Given the description of an element on the screen output the (x, y) to click on. 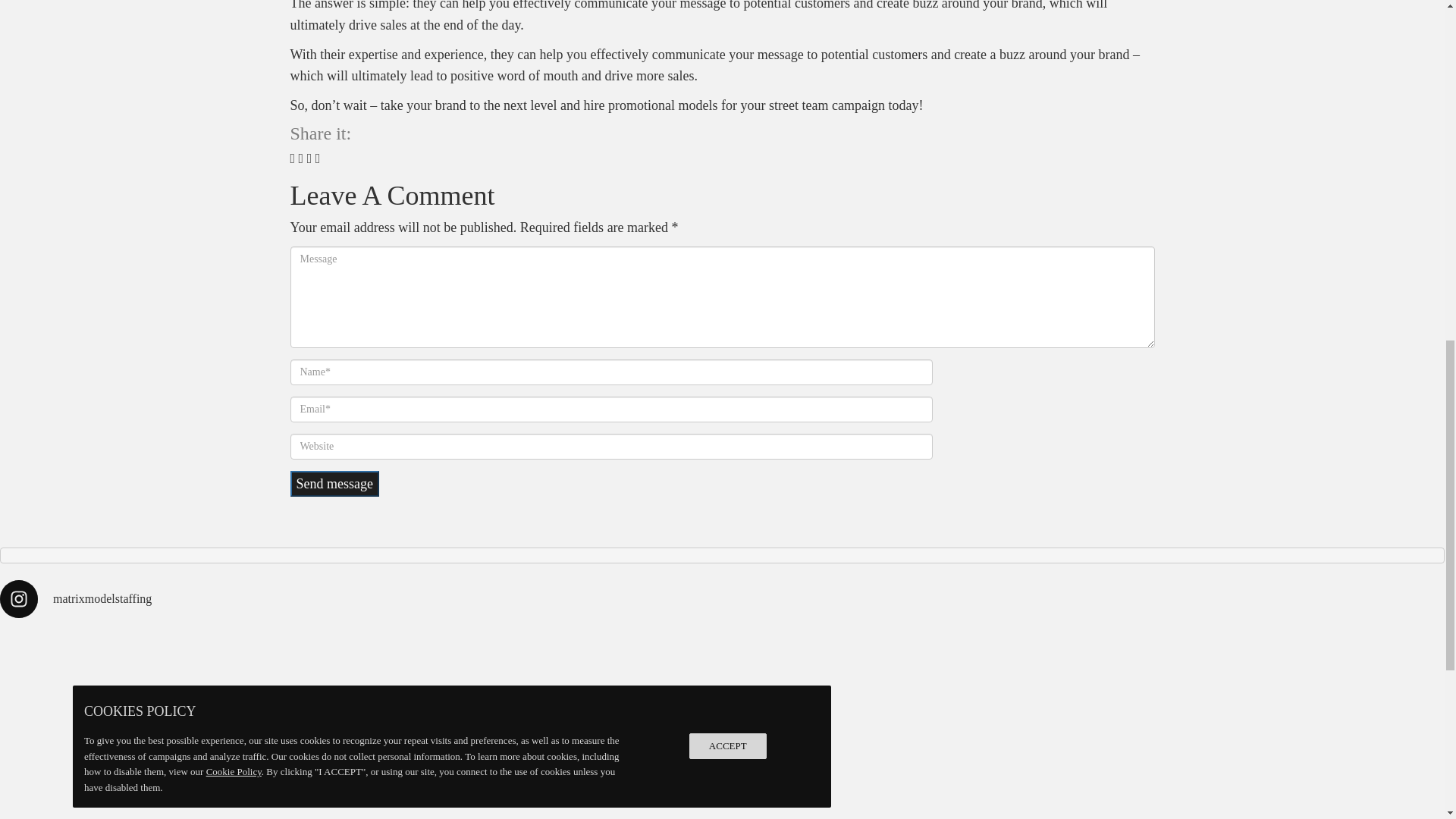
Send message (333, 483)
